Given the description of an element on the screen output the (x, y) to click on. 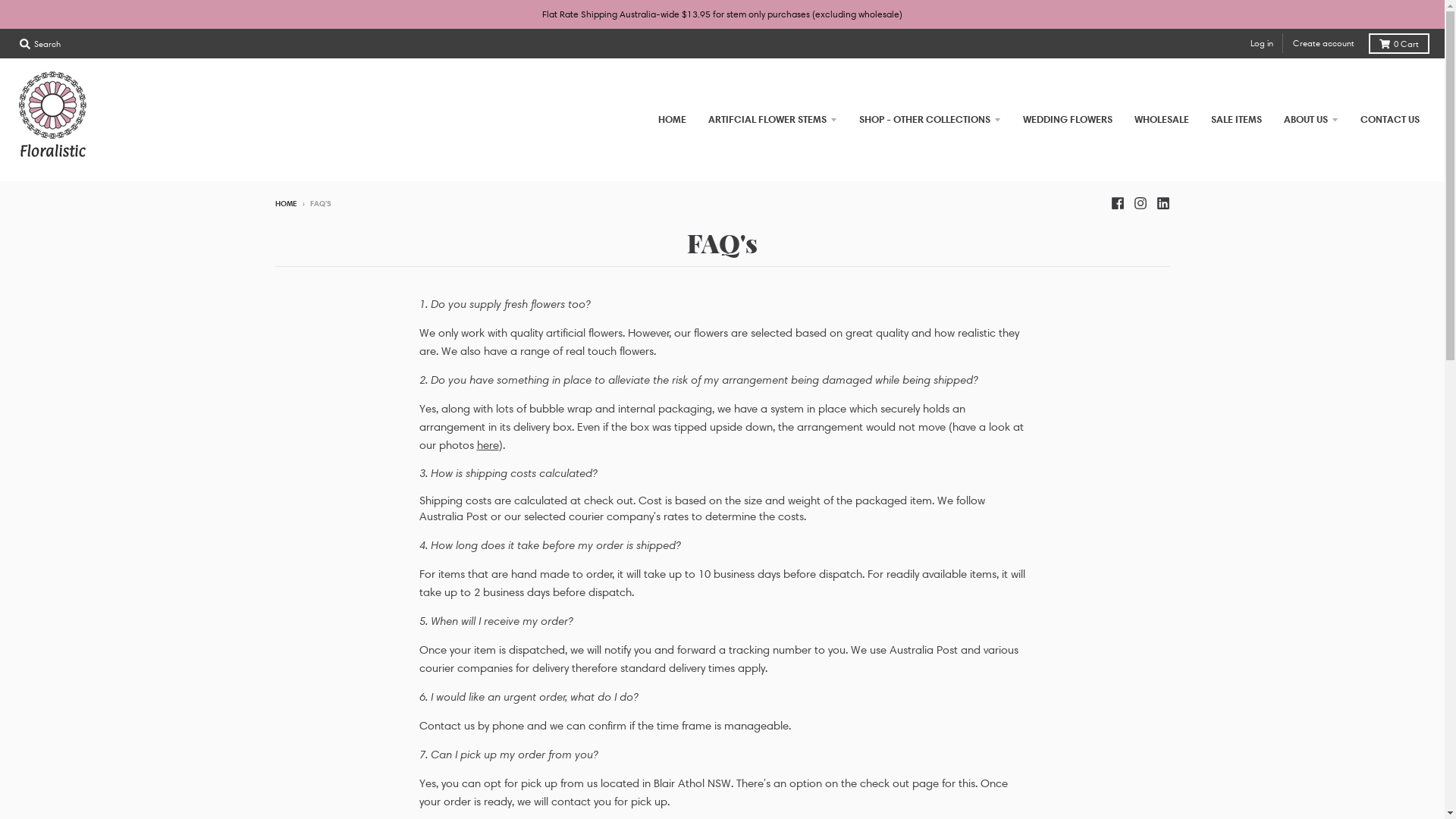
HOME Element type: text (672, 119)
0 Cart Element type: text (1398, 43)
LinkedIn - Floralistic Element type: hover (1162, 202)
Log in Element type: text (1261, 43)
CONTACT US Element type: text (1389, 119)
HOME Element type: text (285, 203)
here Element type: text (487, 444)
Instagram - Floralistic Element type: hover (1139, 202)
Facebook - Floralistic Element type: hover (1116, 202)
Search Element type: text (40, 43)
ARTIFCIAL FLOWER STEMS Element type: text (772, 119)
SALE ITEMS Element type: text (1236, 119)
WEDDING FLOWERS Element type: text (1067, 119)
SHOP - OTHER COLLECTIONS Element type: text (929, 119)
WHOLESALE Element type: text (1161, 119)
ABOUT US Element type: text (1311, 119)
Create account Element type: text (1323, 43)
